Given the description of an element on the screen output the (x, y) to click on. 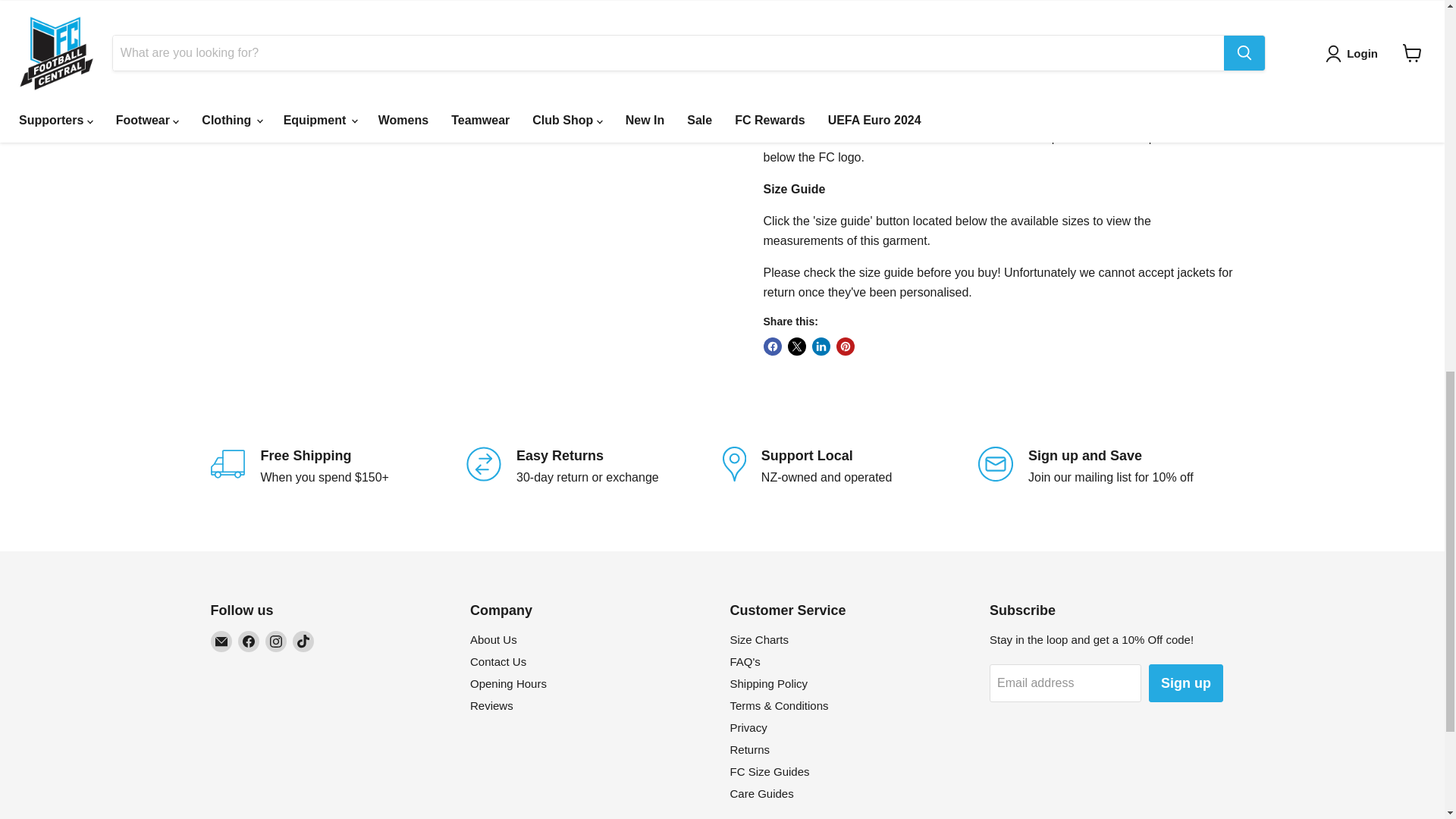
TikTok (303, 640)
Email (221, 640)
Facebook (248, 640)
Instagram (275, 640)
